Given the description of an element on the screen output the (x, y) to click on. 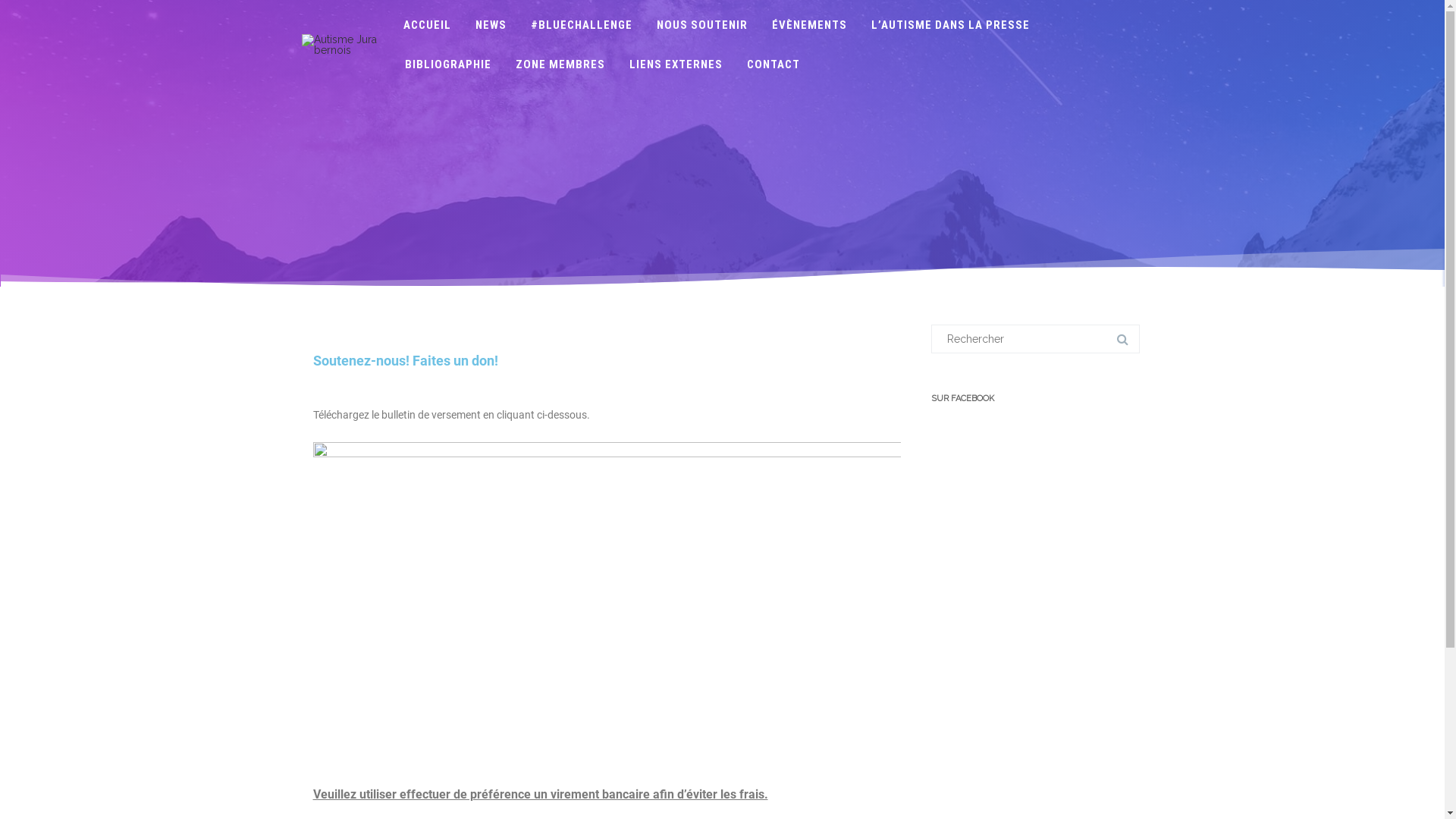
NOUS SOUTENIR Element type: text (702, 24)
Autisme Jura bernois Element type: hover (341, 49)
Search for: Element type: hover (1035, 338)
LIENS EXTERNES Element type: text (676, 64)
NEWS Element type: text (490, 24)
#BLUECHALLENGE Element type: text (581, 24)
ACCUEIL Element type: text (427, 24)
BIBLIOGRAPHIE Element type: text (447, 64)
CONTACT Element type: text (773, 64)
ZONE MEMBRES Element type: text (560, 64)
